Given the description of an element on the screen output the (x, y) to click on. 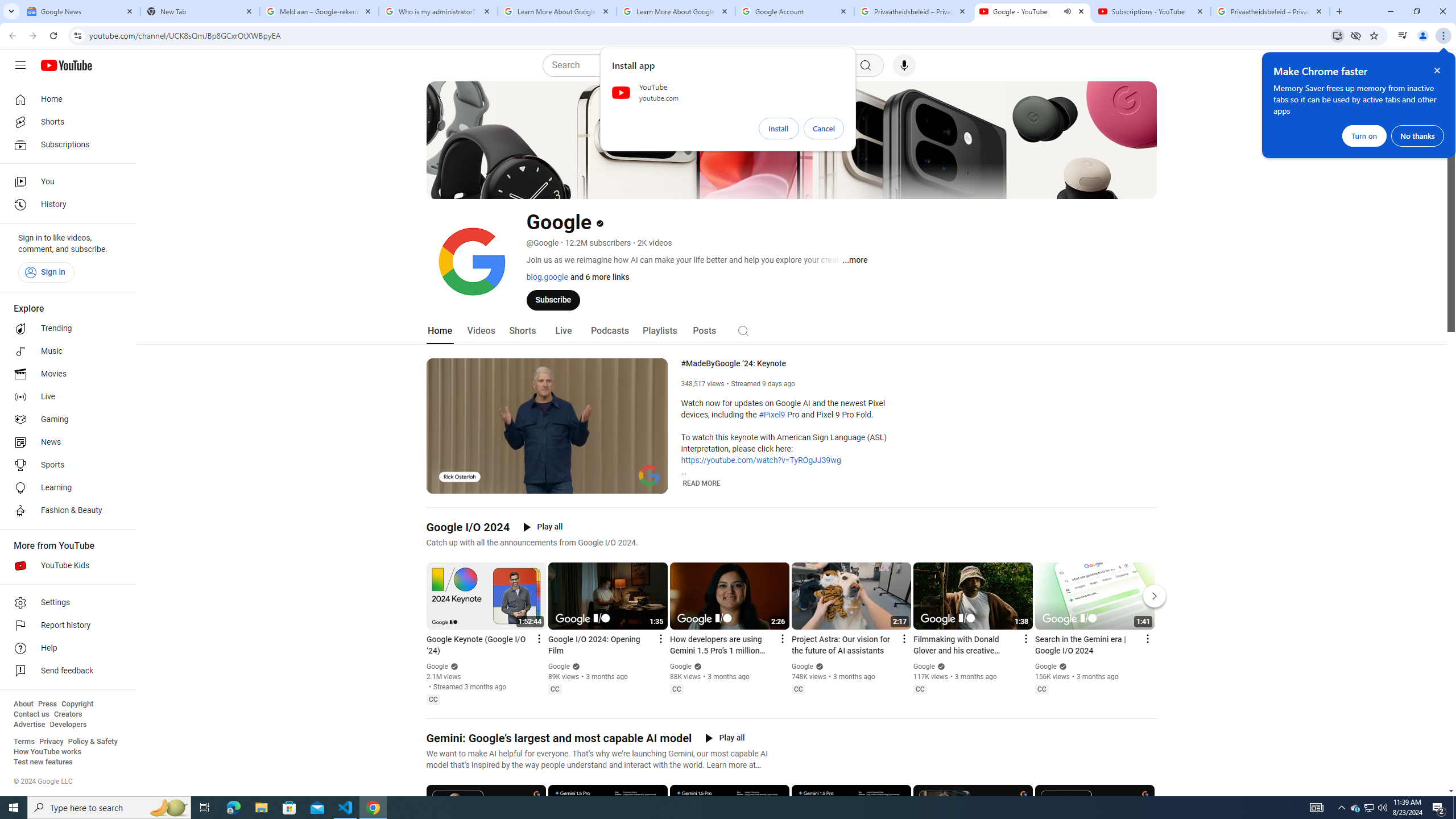
Closed captions (1041, 688)
MadeByGoogle '24: Intro (560, 483)
Posts (703, 330)
History (64, 204)
Turn on (1364, 135)
Playlists (659, 330)
Advertise (29, 724)
Live (562, 330)
